Given the description of an element on the screen output the (x, y) to click on. 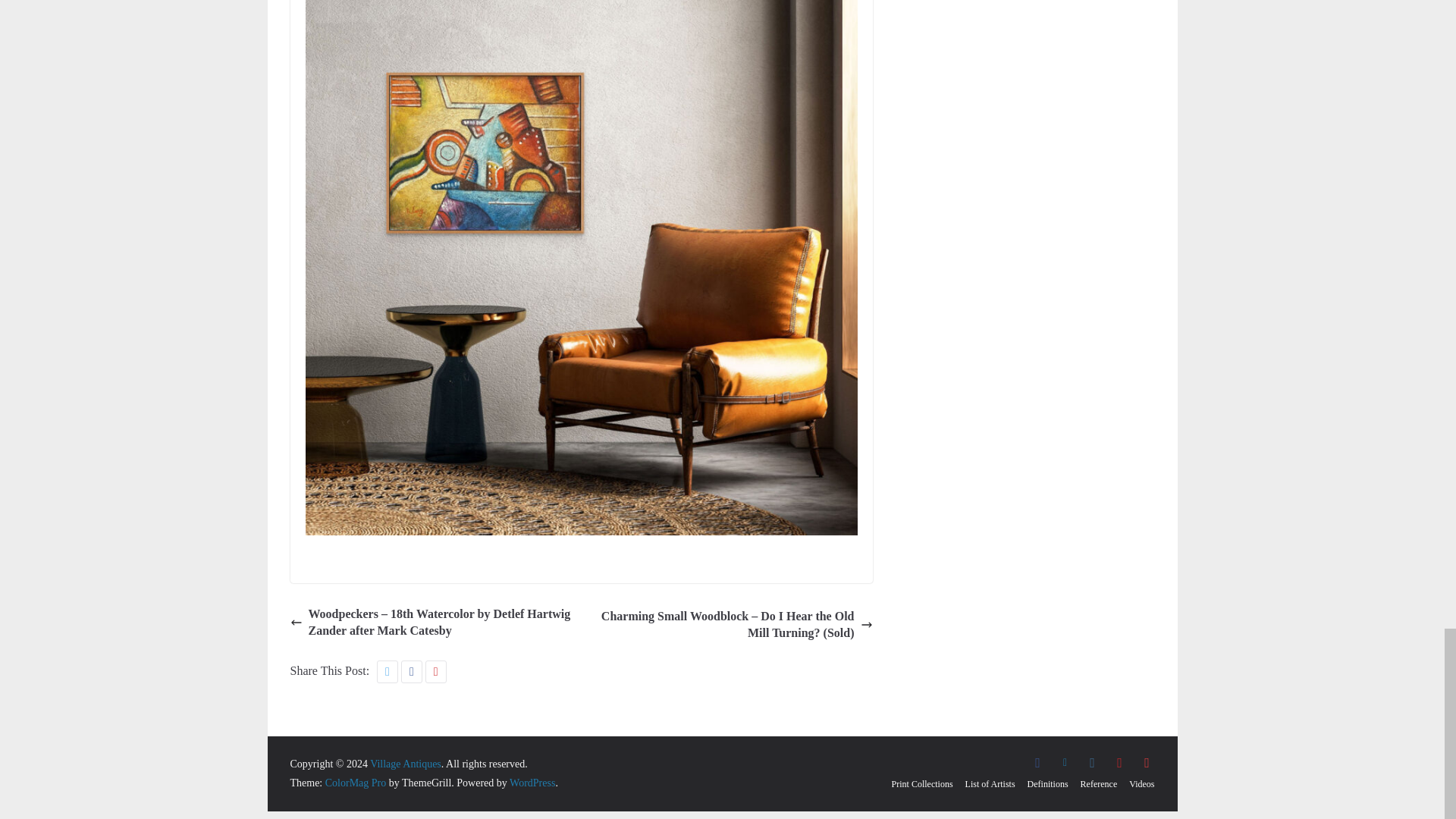
Village Antiques (405, 763)
ColorMag Pro (355, 782)
WordPress (531, 782)
